Given the description of an element on the screen output the (x, y) to click on. 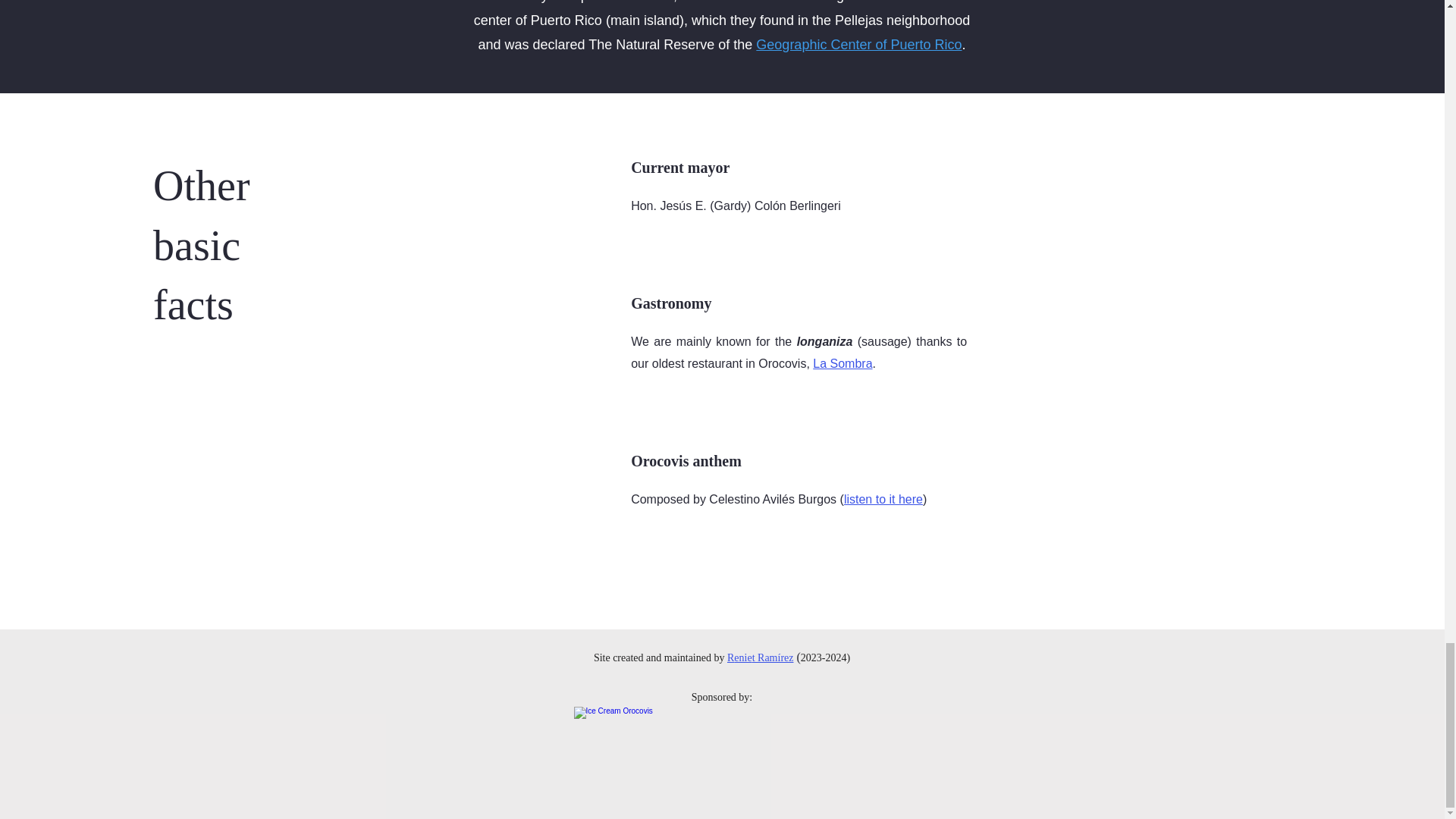
listen to it here (883, 499)
logo-200.png (721, 753)
Geographic Center of Puerto Rico (857, 44)
La Sombra (842, 363)
